Given the description of an element on the screen output the (x, y) to click on. 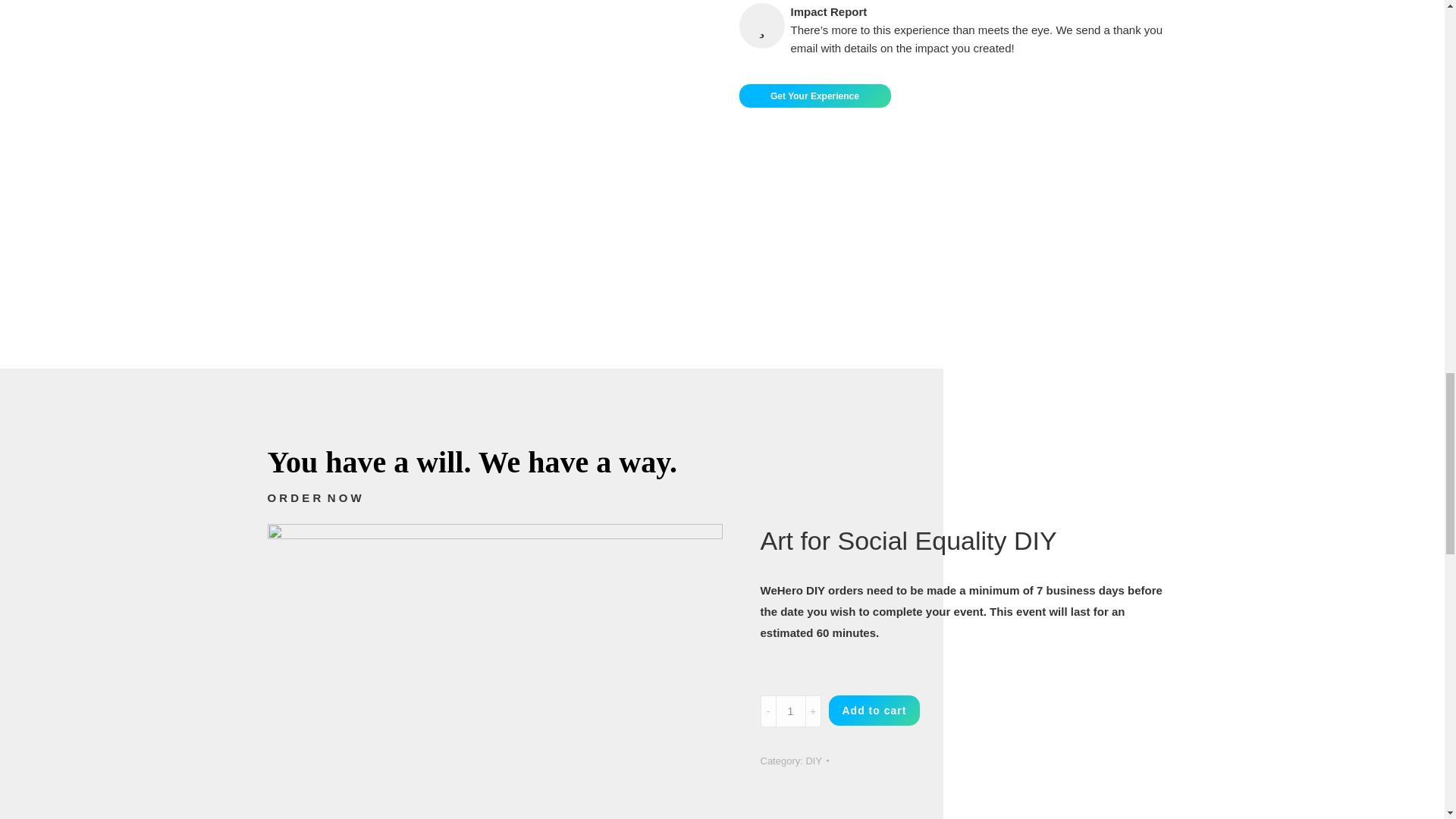
DIY (813, 760)
1 (789, 711)
Qty (789, 711)
Add to cart (874, 710)
Get Your Experience (813, 95)
